Given the description of an element on the screen output the (x, y) to click on. 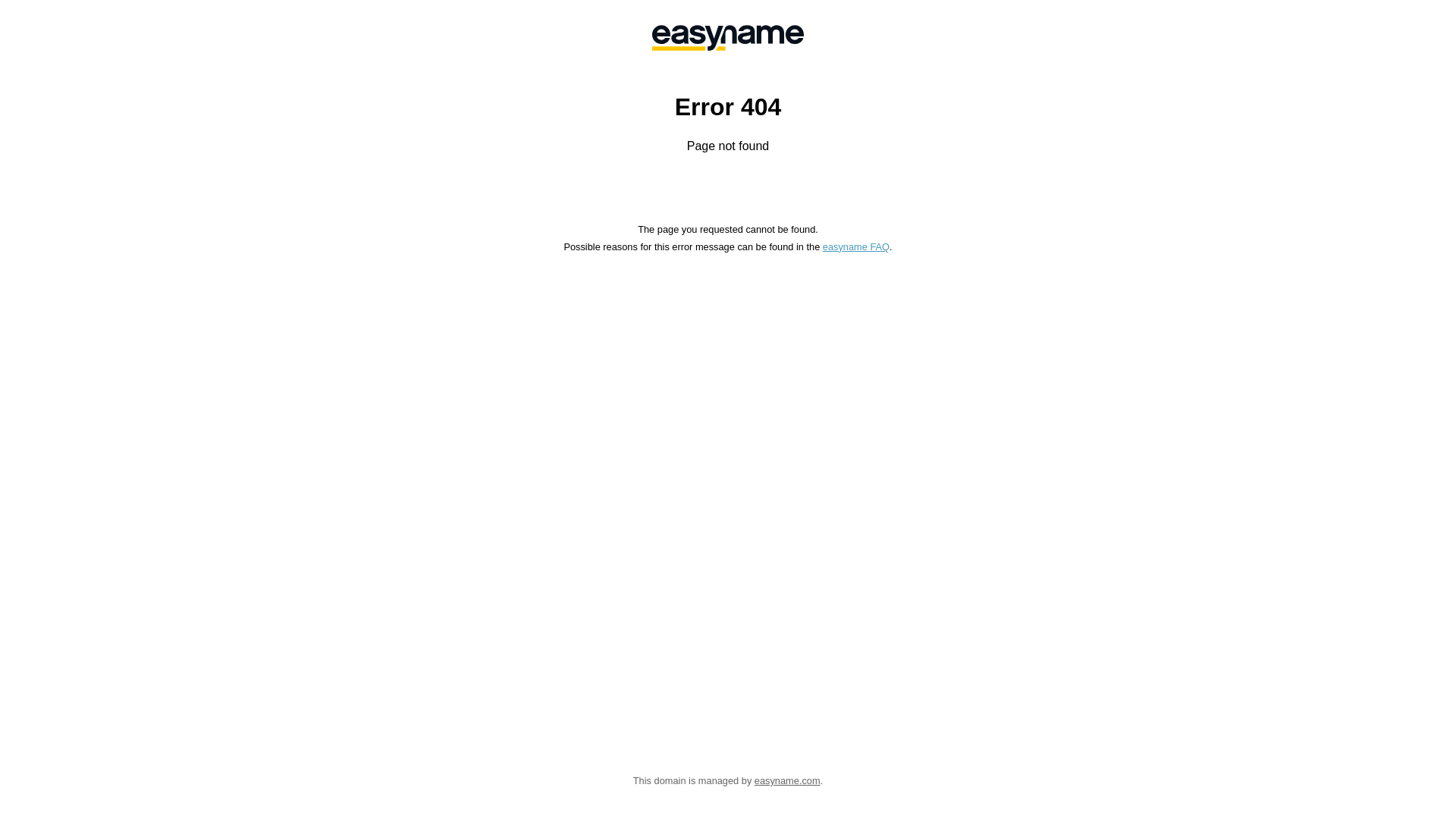
easyname GmbH Element type: hover (727, 37)
easyname.com Element type: text (787, 780)
easyname FAQ Element type: text (855, 246)
